Given the description of an element on the screen output the (x, y) to click on. 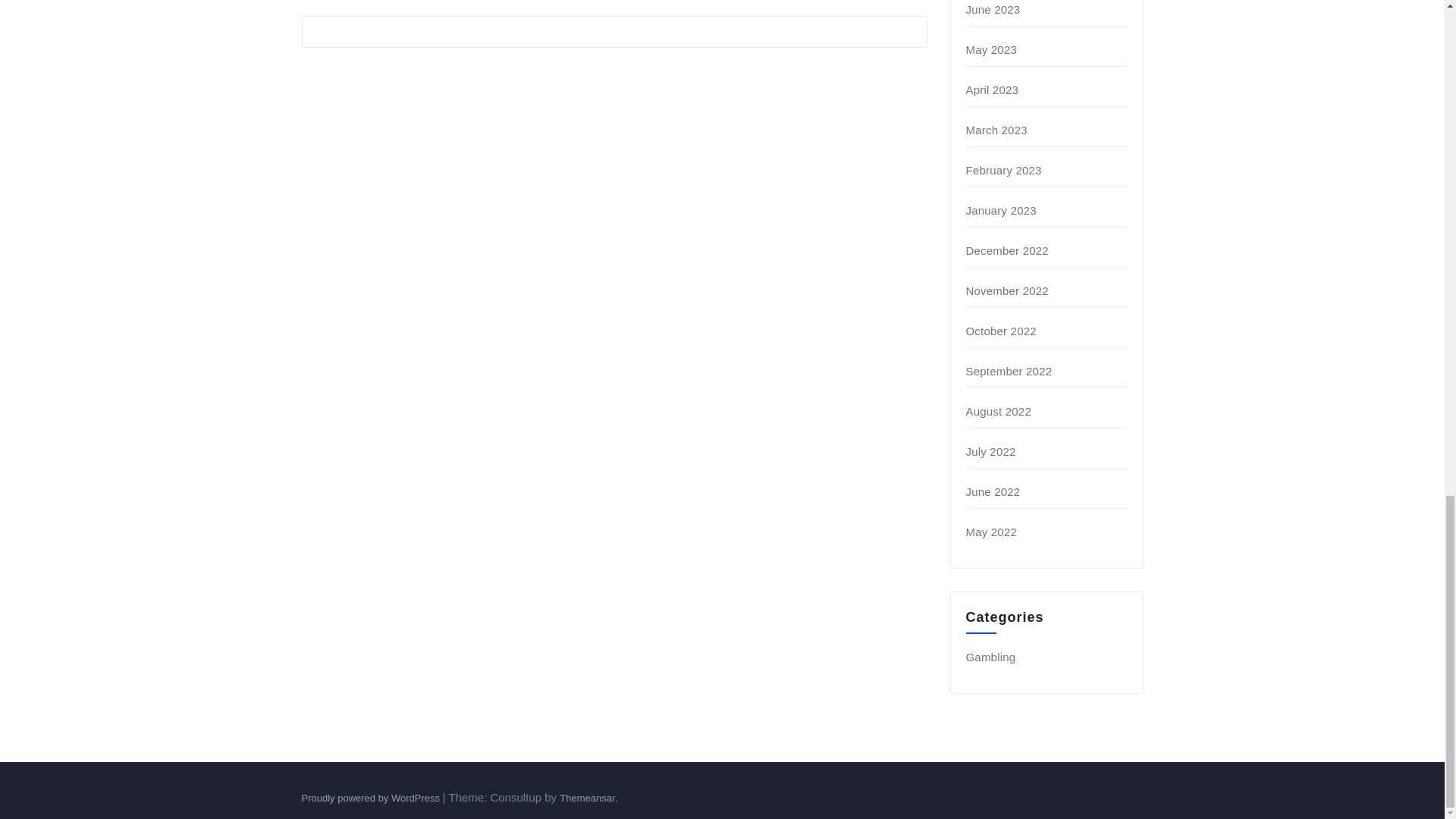
January 2023 (1001, 210)
Proudly powered by WordPress (371, 797)
December 2022 (1007, 250)
September 2022 (1009, 370)
November 2022 (1007, 290)
April 2023 (992, 89)
May 2023 (991, 49)
July 2022 (991, 451)
March 2023 (996, 129)
February 2023 (1004, 169)
